Given the description of an element on the screen output the (x, y) to click on. 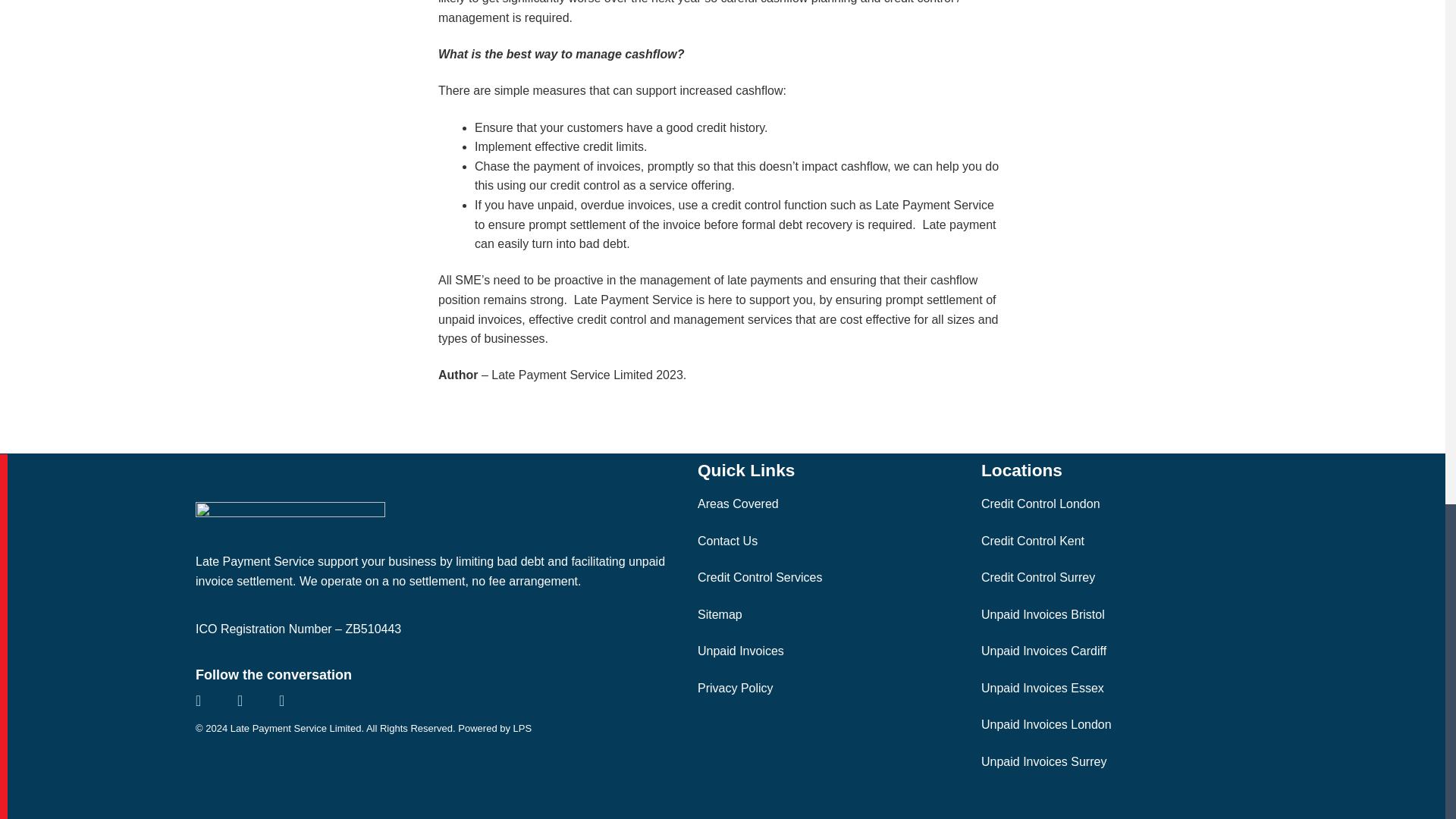
Credit Control Services (759, 576)
Credit Control London (1040, 503)
Contact Us (727, 540)
Unpaid Invoices Bristol (1043, 614)
Areas Covered (737, 503)
Credit Control Surrey (1037, 576)
Sitemap (719, 614)
Credit Control Kent (1032, 540)
Unpaid Invoices Cardiff (1043, 650)
Unpaid Invoices Essex (1042, 687)
Privacy Policy (735, 687)
Unpaid Invoices (740, 650)
Unpaid Invoices London (1046, 724)
Unpaid Invoices Surrey (1043, 761)
